Given the description of an element on the screen output the (x, y) to click on. 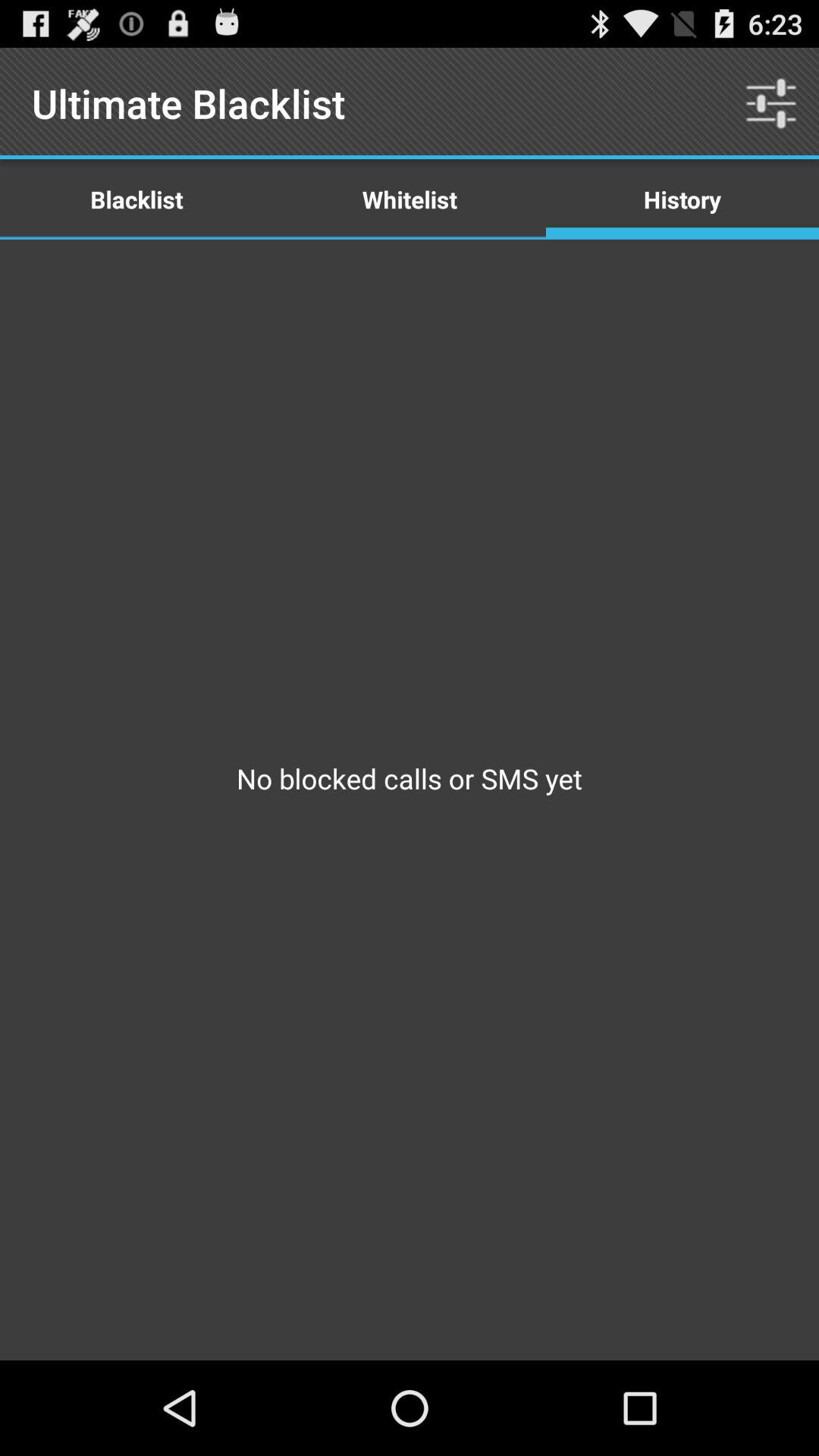
click the icon above no blocked calls item (682, 199)
